Given the description of an element on the screen output the (x, y) to click on. 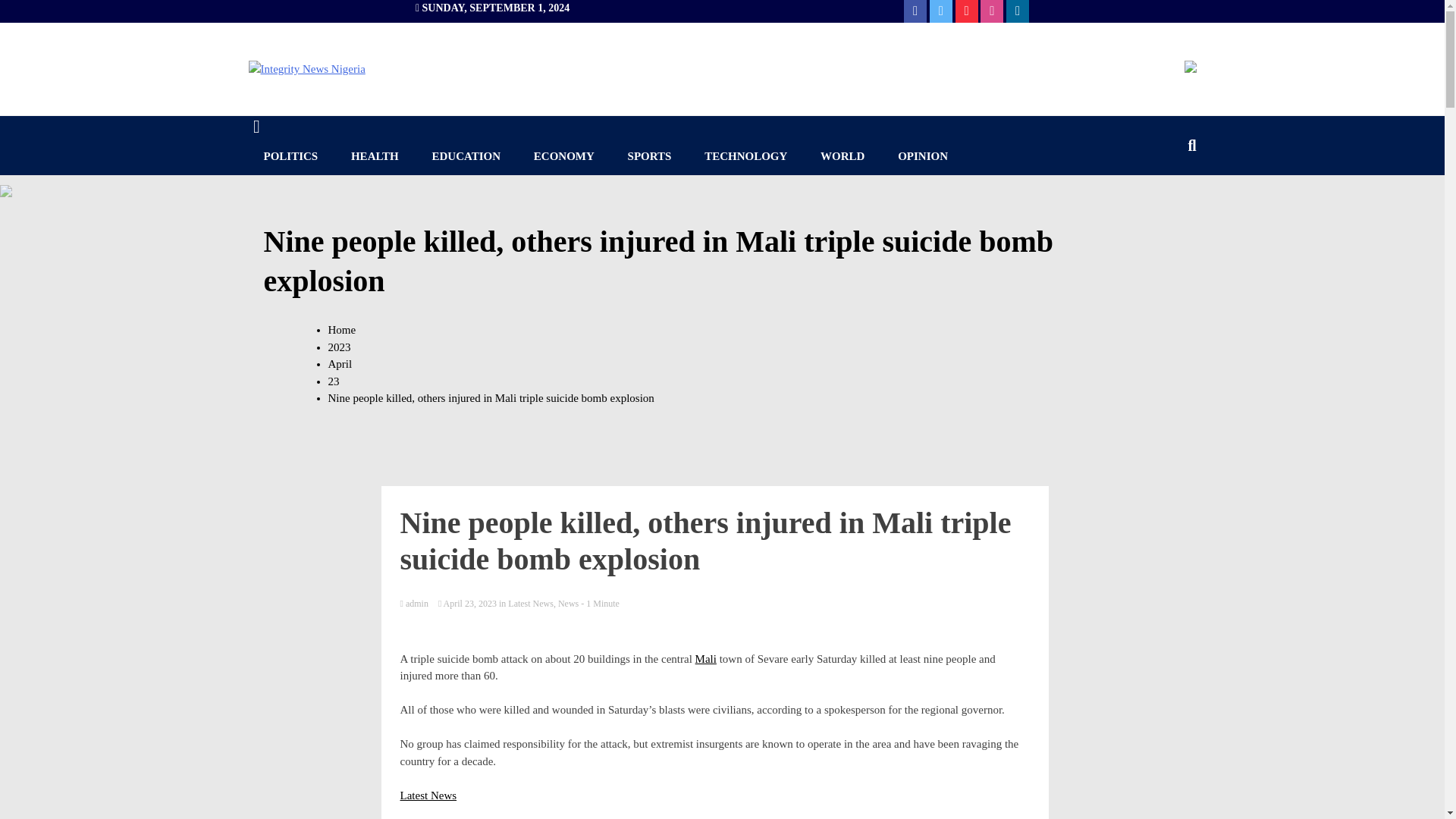
POLITICS (290, 156)
TECHNOLOGY (745, 156)
ECONOMY (564, 156)
HEALTH (374, 156)
OPINION (922, 156)
WORLD (842, 156)
EDUCATION (466, 156)
Estimated Reading Time of Article (600, 603)
SPORTS (649, 156)
